Given the description of an element on the screen output the (x, y) to click on. 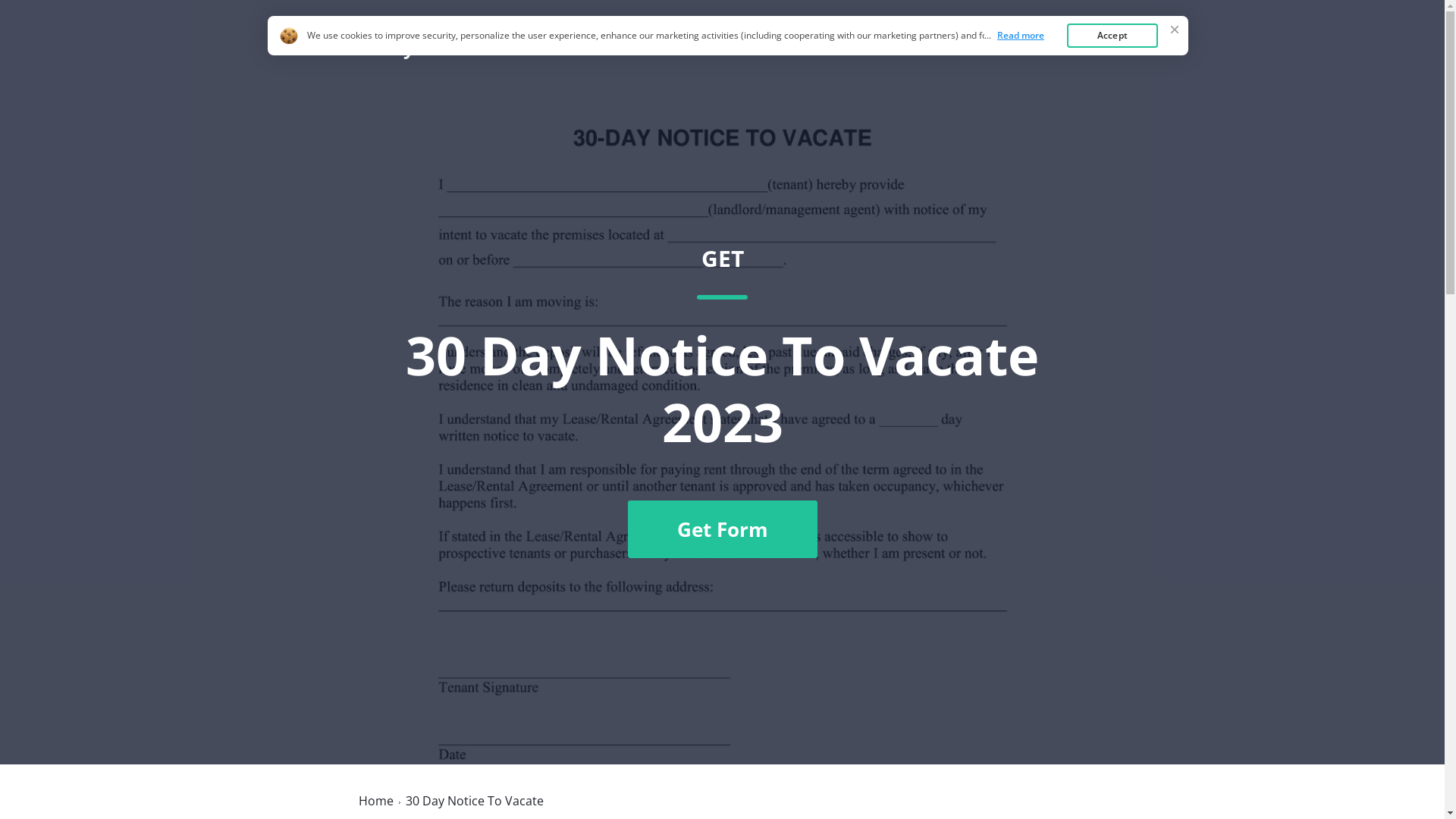
Top Forms Element type: text (1062, 47)
Home Element type: text (374, 800)
Home Element type: text (986, 47)
GET
30 Day Notice To Vacate 2023
Get Form Element type: text (721, 400)
30 Day Notice Form Element type: text (442, 46)
Accept Element type: text (1111, 35)
